Given the description of an element on the screen output the (x, y) to click on. 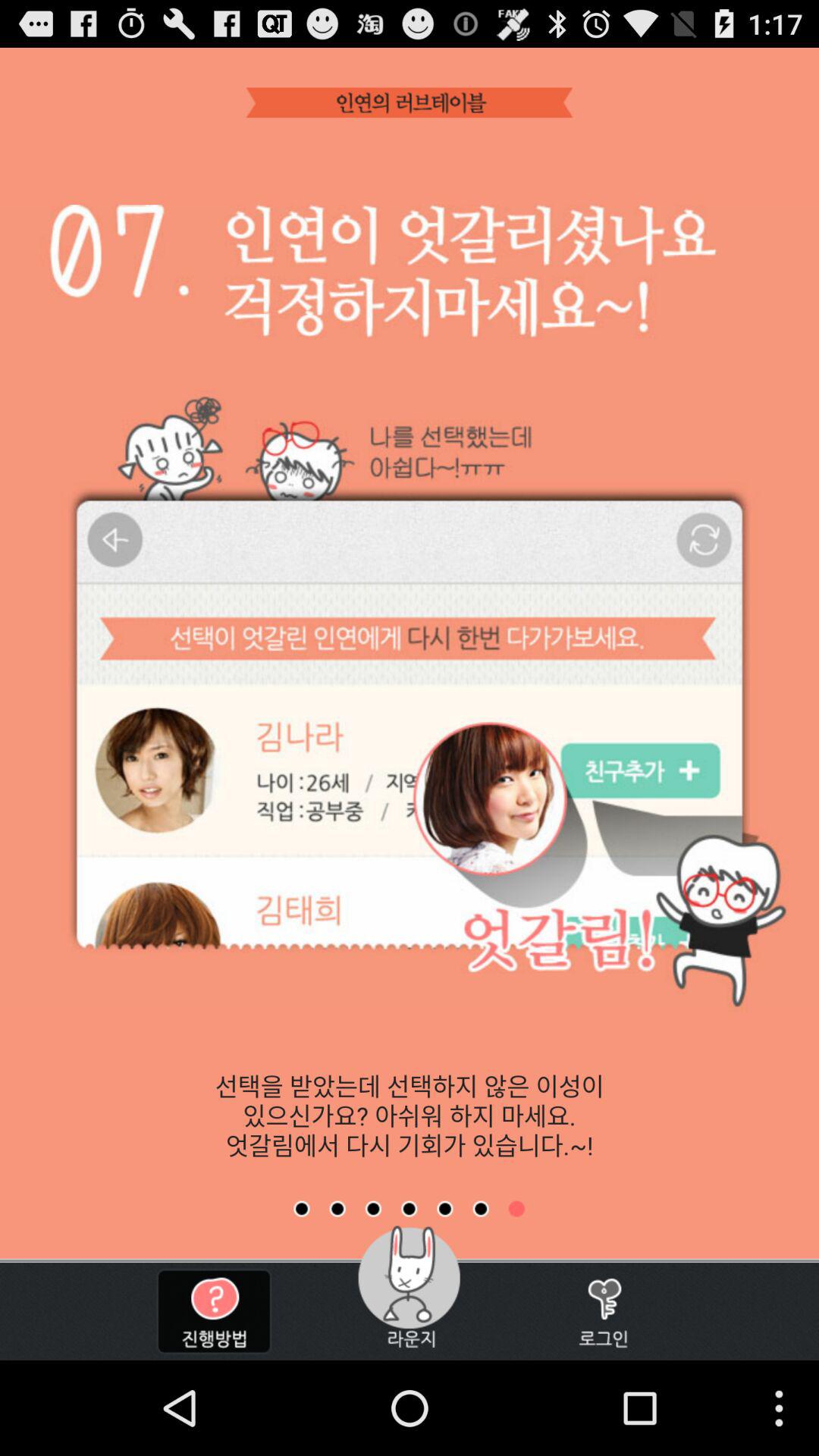
view sixth image (480, 1208)
